Given the description of an element on the screen output the (x, y) to click on. 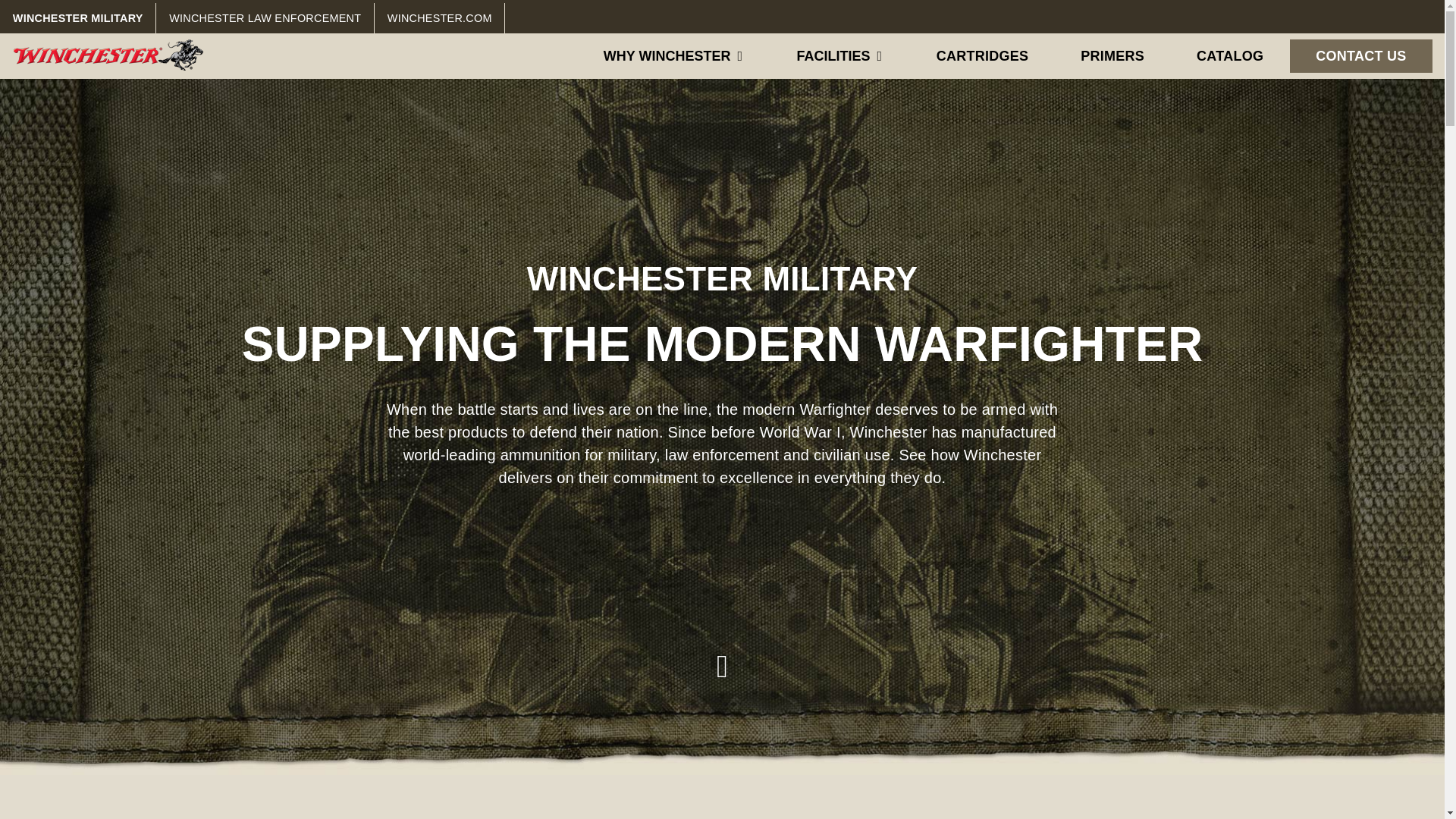
Skip to main content (68, 2)
CARTRIDGES (982, 55)
CATALOG (1230, 55)
Scroll for more (722, 653)
WHY WINCHESTER (673, 55)
CONTACT US (1361, 55)
WINCHESTER MILITARY (77, 18)
FACILITIES (840, 55)
PRIMERS (1112, 55)
